Given the description of an element on the screen output the (x, y) to click on. 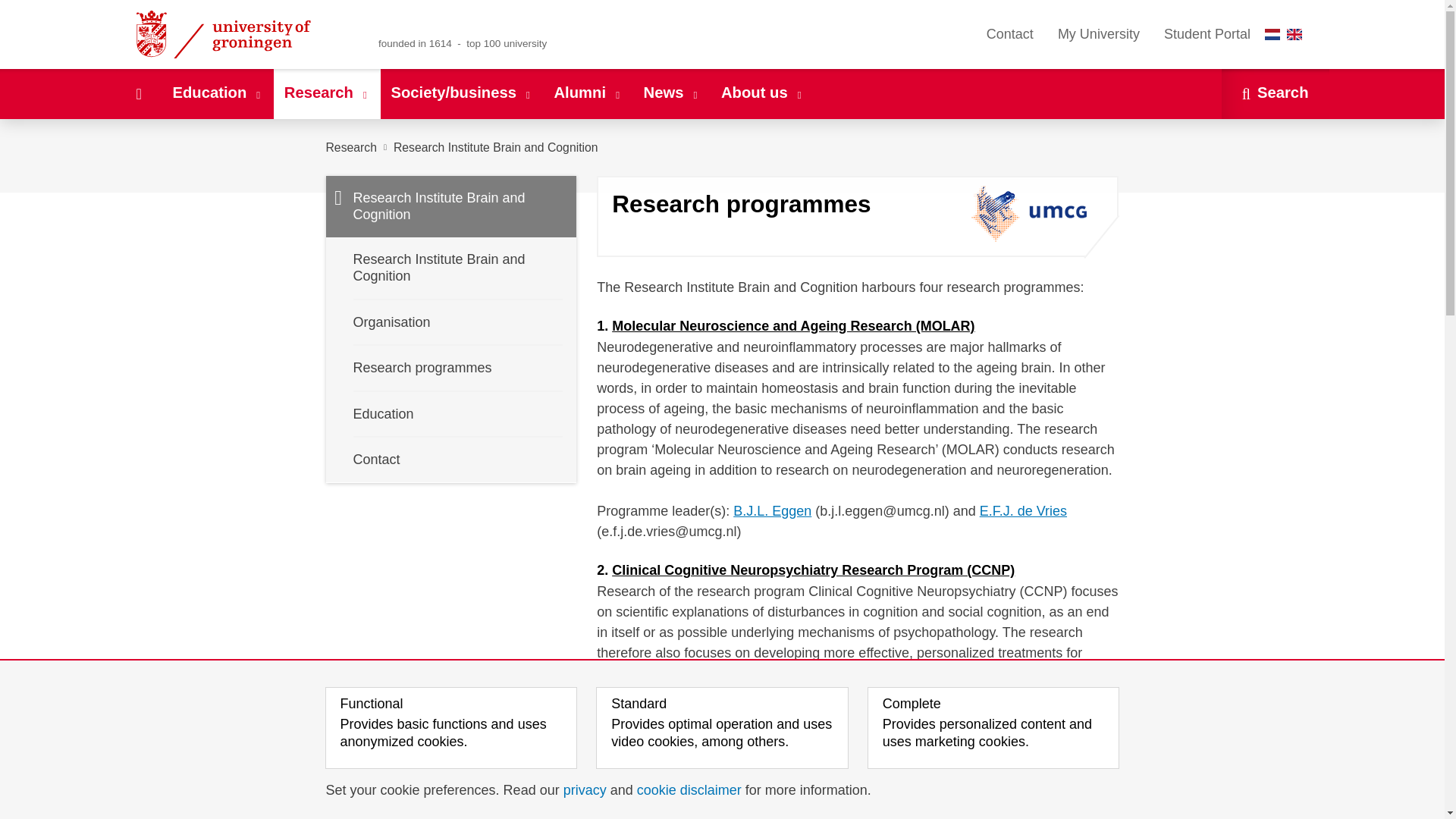
English (1293, 33)
Language select (1286, 34)
Home (138, 93)
Education (217, 93)
My University (1098, 34)
Research (326, 93)
Nederlands (1272, 33)
Contact (1009, 34)
University of Groningen (241, 34)
Student Portal (1206, 34)
